Given the description of an element on the screen output the (x, y) to click on. 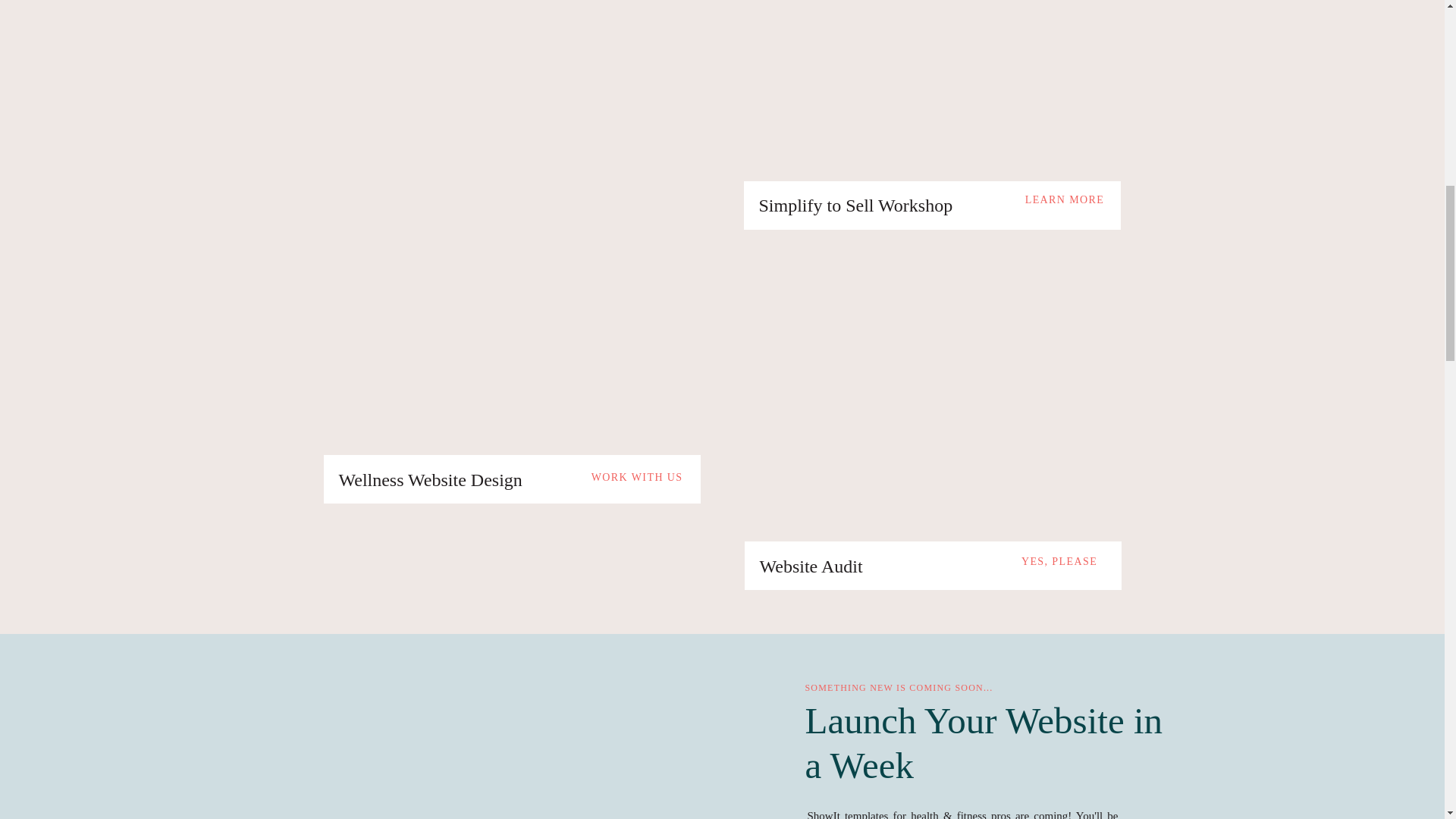
YES, PLEASE (1059, 560)
Wellness Website Design (455, 478)
WORK WITH US (632, 475)
Simplify to Sell Workshop (901, 204)
LEARN MORE (1065, 198)
Website Audit (903, 565)
